Given the description of an element on the screen output the (x, y) to click on. 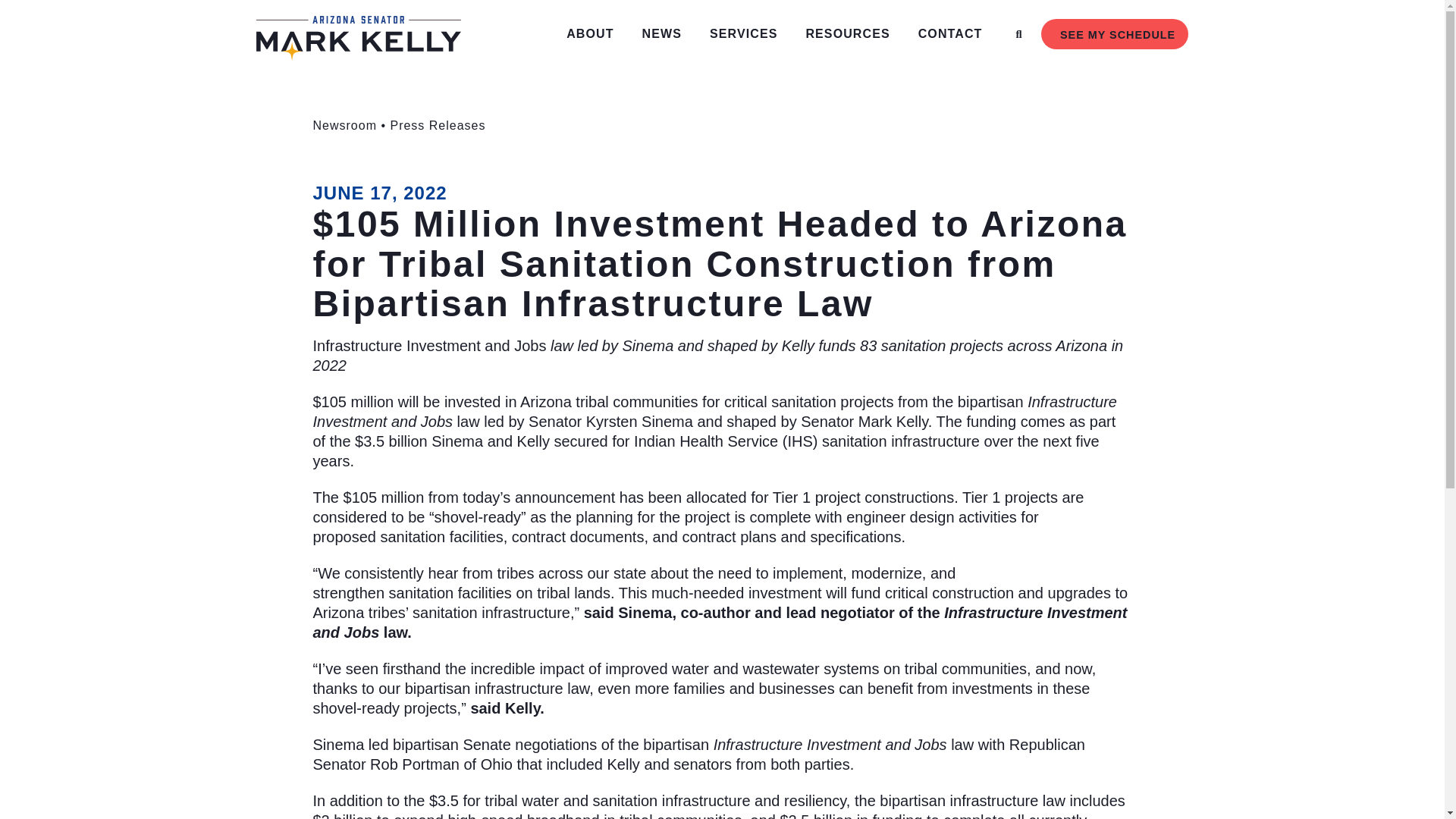
CONTACT (954, 33)
SERVICES (747, 33)
ABOUT (593, 33)
RESOURCES (850, 33)
NEWS (665, 33)
